Given the description of an element on the screen output the (x, y) to click on. 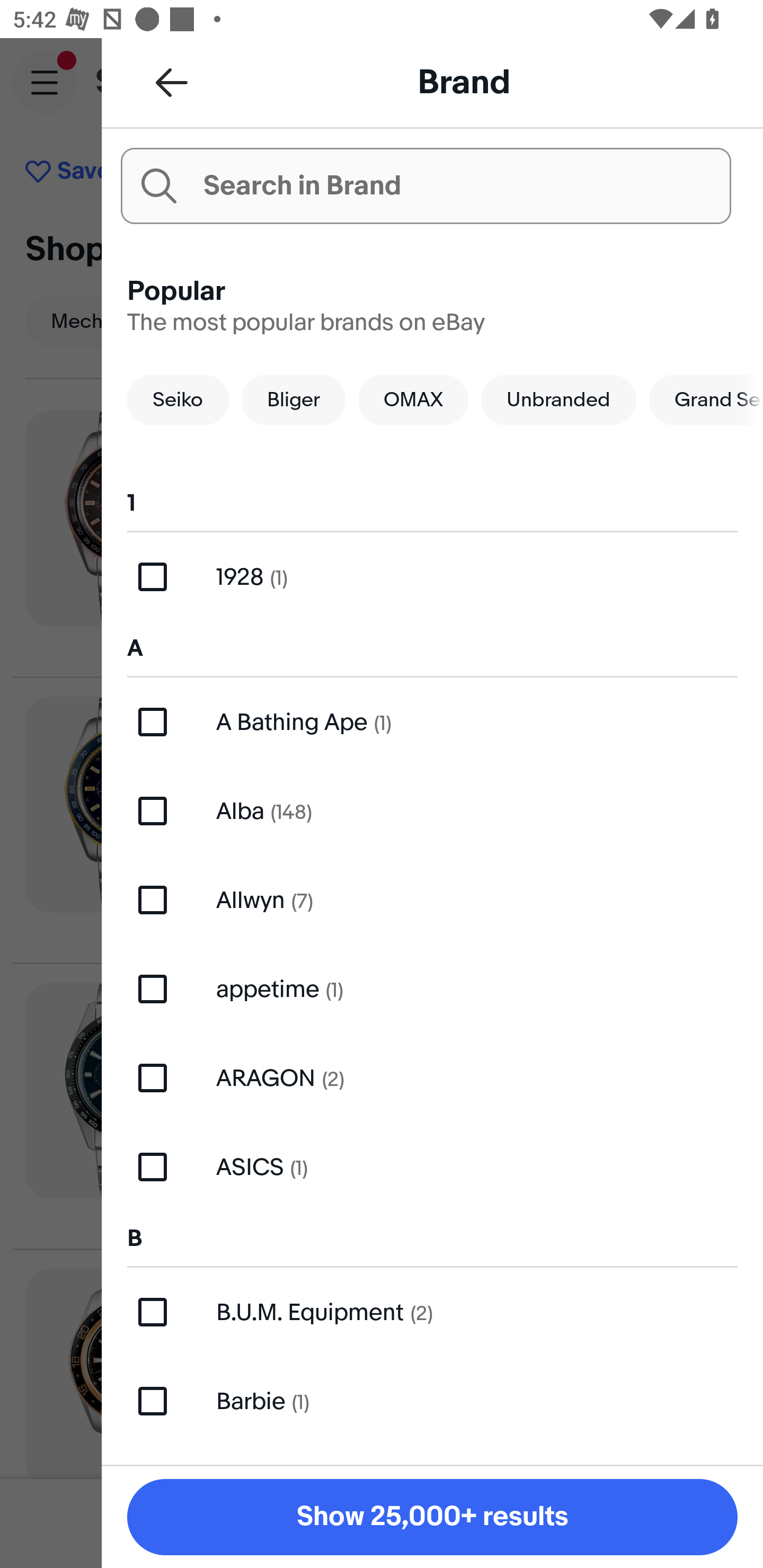
Back to all refinements (171, 81)
Search in Brand (425, 185)
Seiko (177, 399)
Bliger (293, 399)
OMAX (412, 399)
Unbranded (558, 399)
Grand Seiko (706, 399)
1928 (1) (432, 576)
A Bathing Ape (1) (432, 721)
Alba (148) (432, 811)
Allwyn (7) (432, 899)
appetime (1) (432, 988)
ARAGON (2) (432, 1077)
ASICS (1) (432, 1167)
B.U.M. Equipment (2) (432, 1311)
Barbie (1) (432, 1400)
Show 25,000+ results (432, 1516)
